Given the description of an element on the screen output the (x, y) to click on. 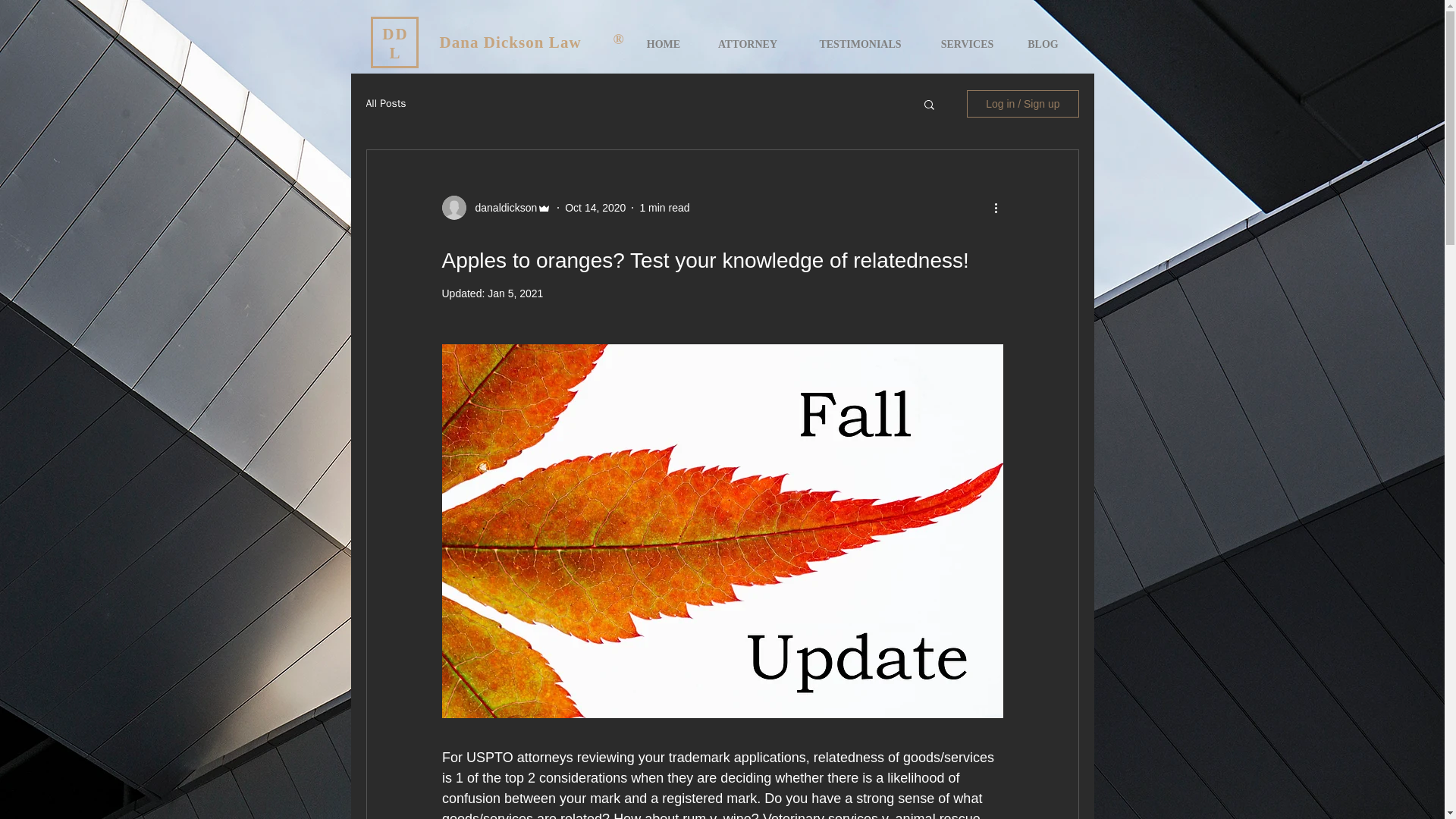
HOME (663, 44)
BLOG (1043, 44)
TESTIMONIALS (860, 44)
SERVICES (967, 44)
ATTORNEY (746, 44)
1 min read (663, 207)
danaldickson (501, 207)
Oct 14, 2020 (595, 207)
Jan 5, 2021 (515, 293)
Dana Dickson Law (509, 42)
